Given the description of an element on the screen output the (x, y) to click on. 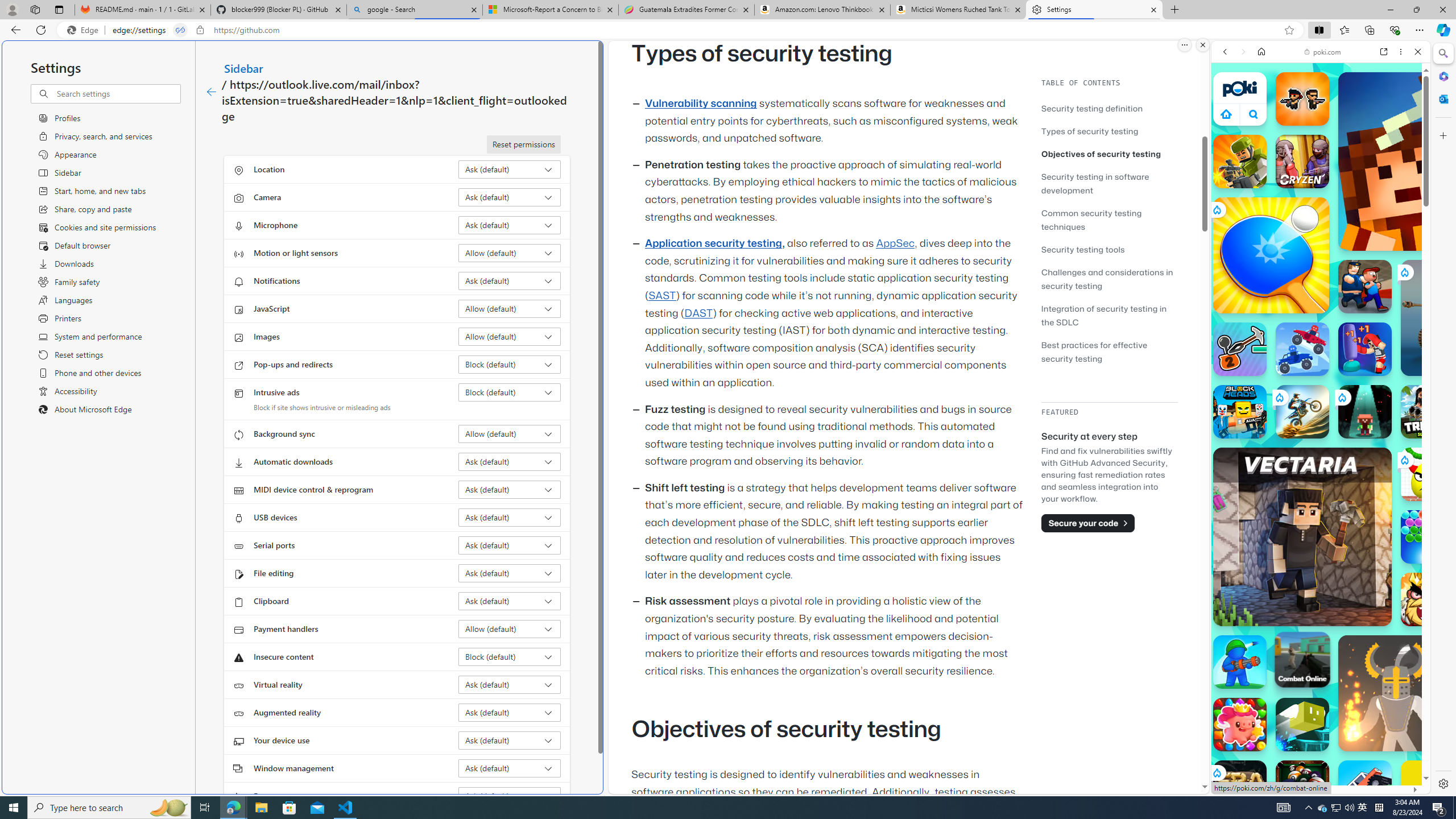
Security testing definition (1109, 108)
MIDI device control & reprogram Ask (default) (509, 489)
Escape From School Escape From School (1364, 286)
Types of security testing (1089, 130)
Punch Legend Simulator (1364, 348)
Secure your code (1088, 522)
Games for Girls (1320, 406)
Vectaria.io Vectaria.io (1301, 536)
Two Player Games (1320, 323)
Monster Tracks Monster Tracks (1364, 787)
Ping Pong Go! (1270, 255)
